Given the description of an element on the screen output the (x, y) to click on. 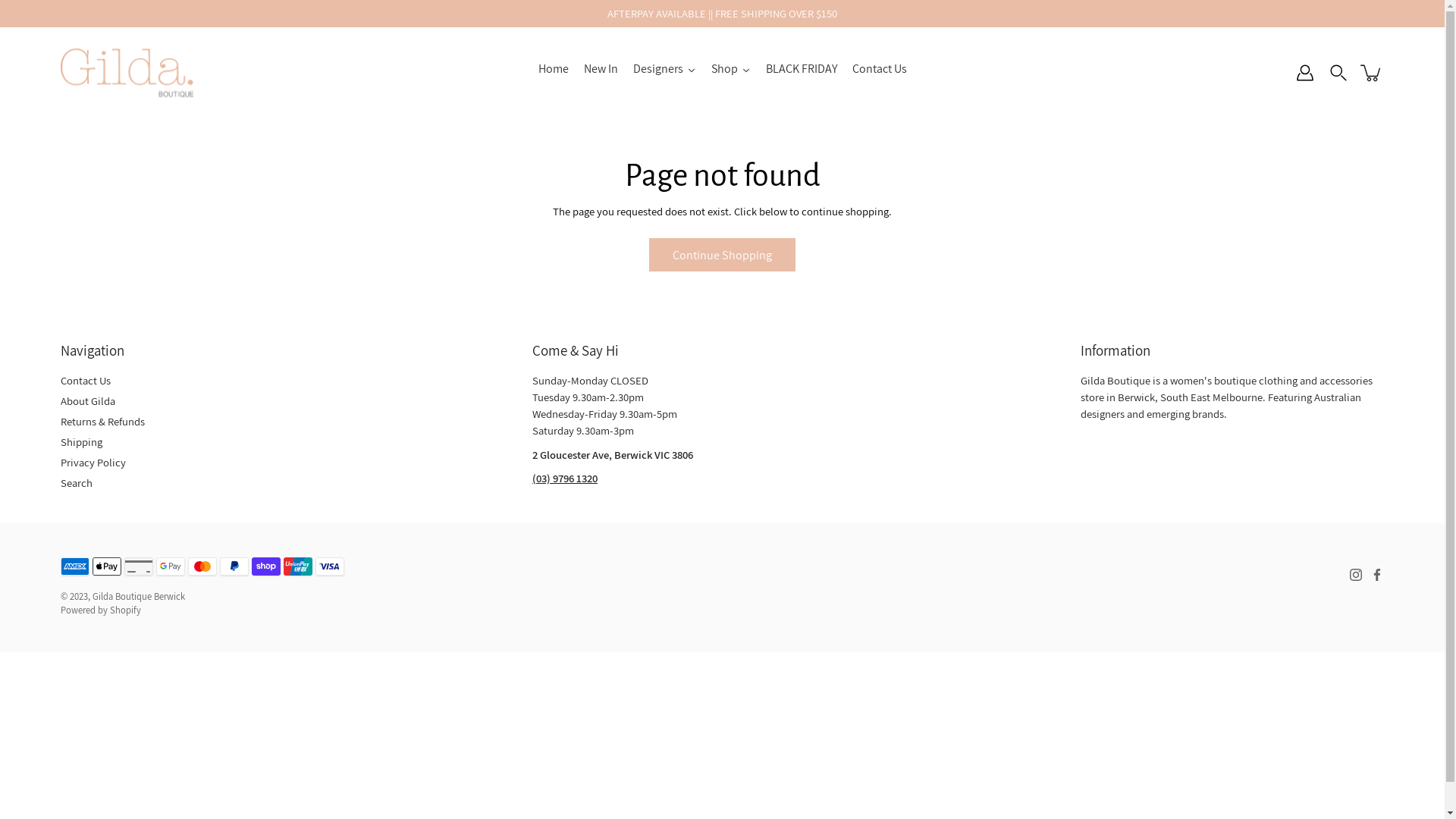
Facebook Element type: text (1376, 574)
Privacy Policy Element type: text (92, 462)
(03) 9796 1320 Element type: text (564, 477)
New In Element type: text (600, 72)
Shop Element type: text (730, 72)
About Gilda Element type: text (87, 400)
Powered by Shopify Element type: text (100, 609)
Contact Us Element type: text (85, 380)
Continue Shopping Element type: text (722, 254)
Home Element type: text (553, 72)
Shipping Element type: text (81, 441)
Designers Element type: text (663, 72)
Contact Us Element type: text (879, 72)
Gilda Boutique Berwick Element type: text (138, 595)
Returns & Refunds Element type: text (102, 421)
BLACK FRIDAY Element type: text (801, 72)
Instagram Element type: text (1355, 574)
Search Element type: text (76, 482)
